Given the description of an element on the screen output the (x, y) to click on. 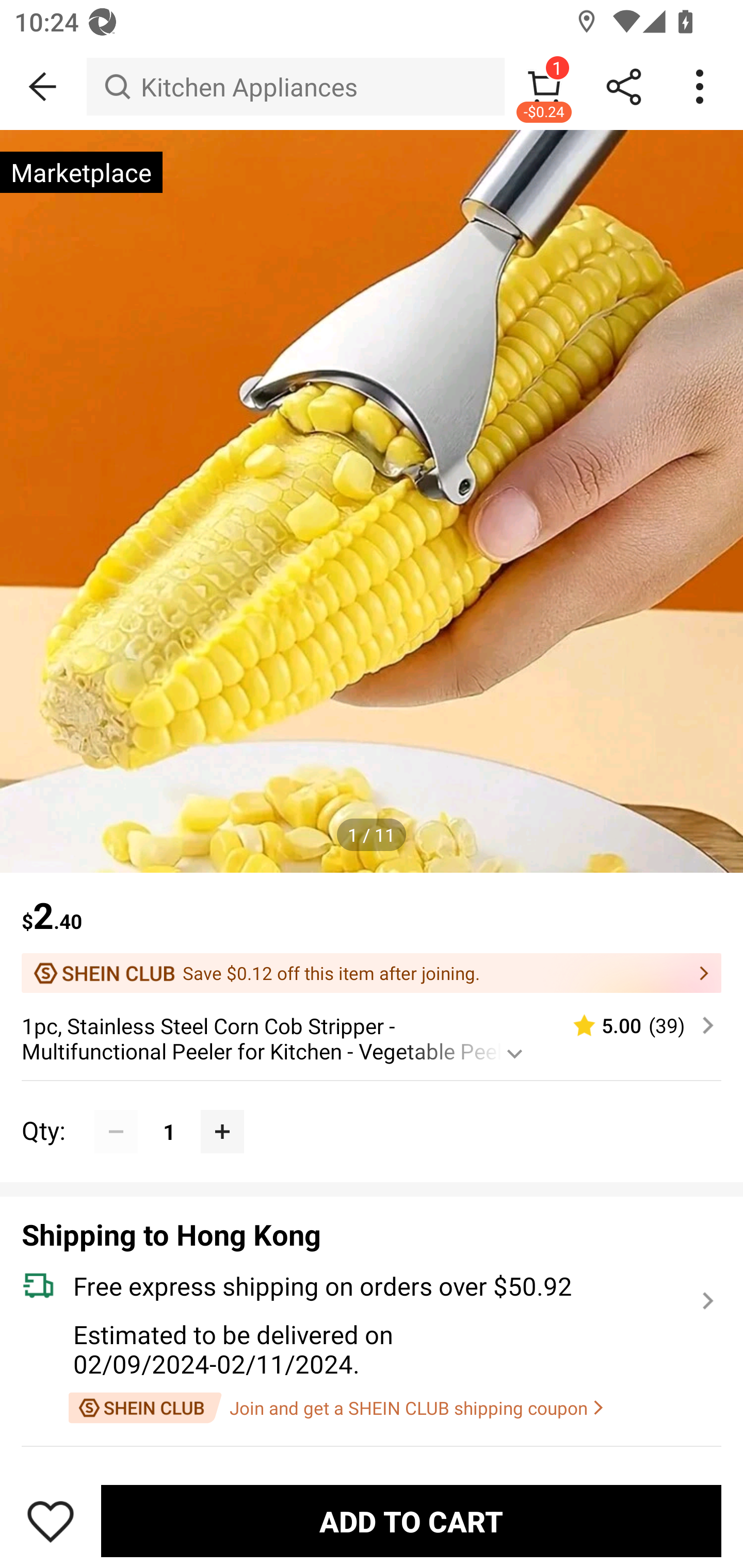
BACK (43, 86)
1 -$0.24 (543, 87)
Kitchen Appliances (295, 87)
PHOTOS Marketplace 1 / 11 (371, 501)
1 / 11 (371, 834)
$2.40 Save $0.12 off this item after joining. (371, 932)
Save $0.12 off this item after joining. (371, 972)
5.00 (39) (635, 1025)
Qty: 1 (371, 1110)
Join and get a SHEIN CLUB shipping coupon (335, 1407)
ADD TO CART (411, 1520)
Save (50, 1520)
